Given the description of an element on the screen output the (x, y) to click on. 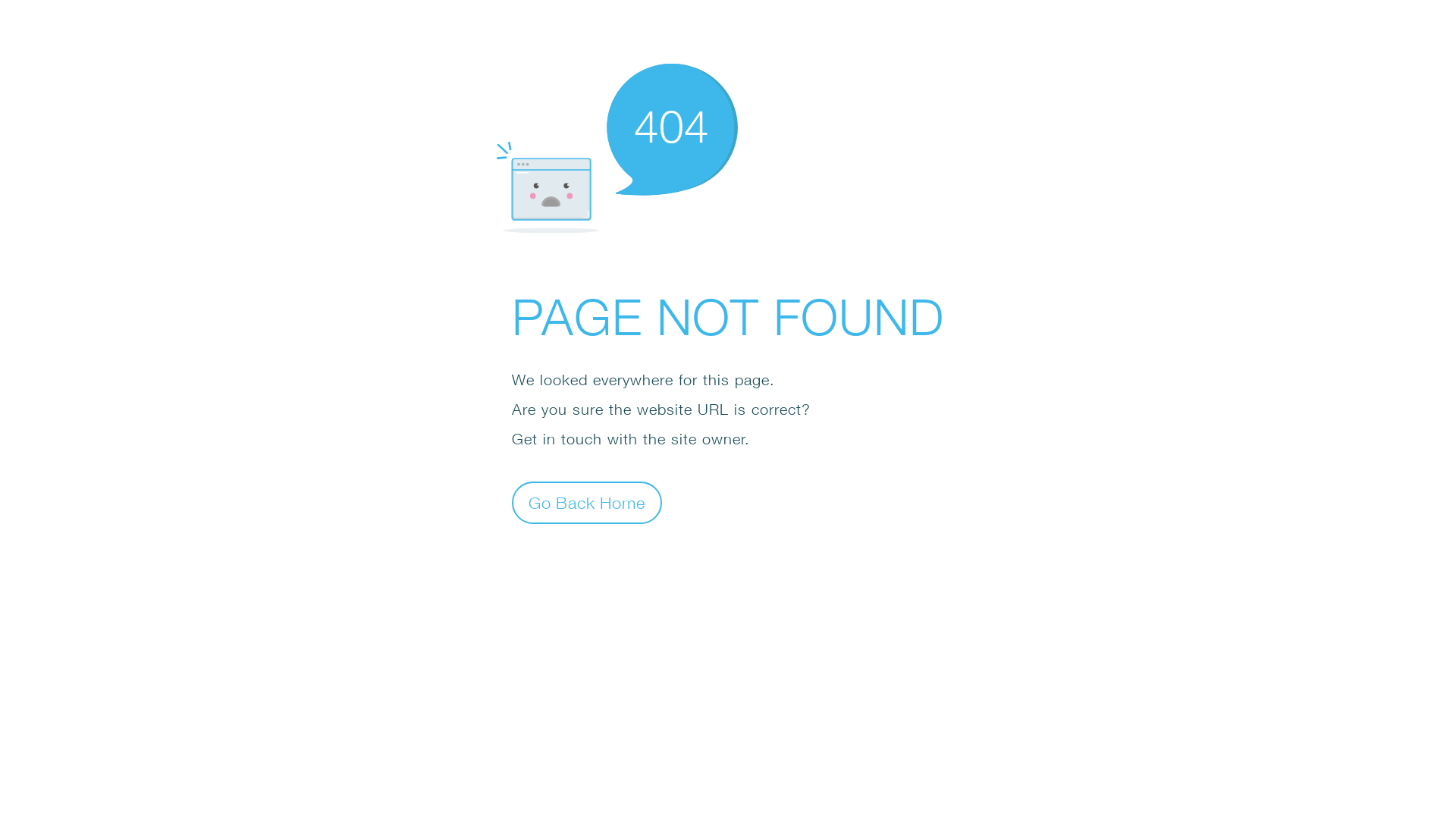
Go Back Home Element type: text (586, 502)
